Given the description of an element on the screen output the (x, y) to click on. 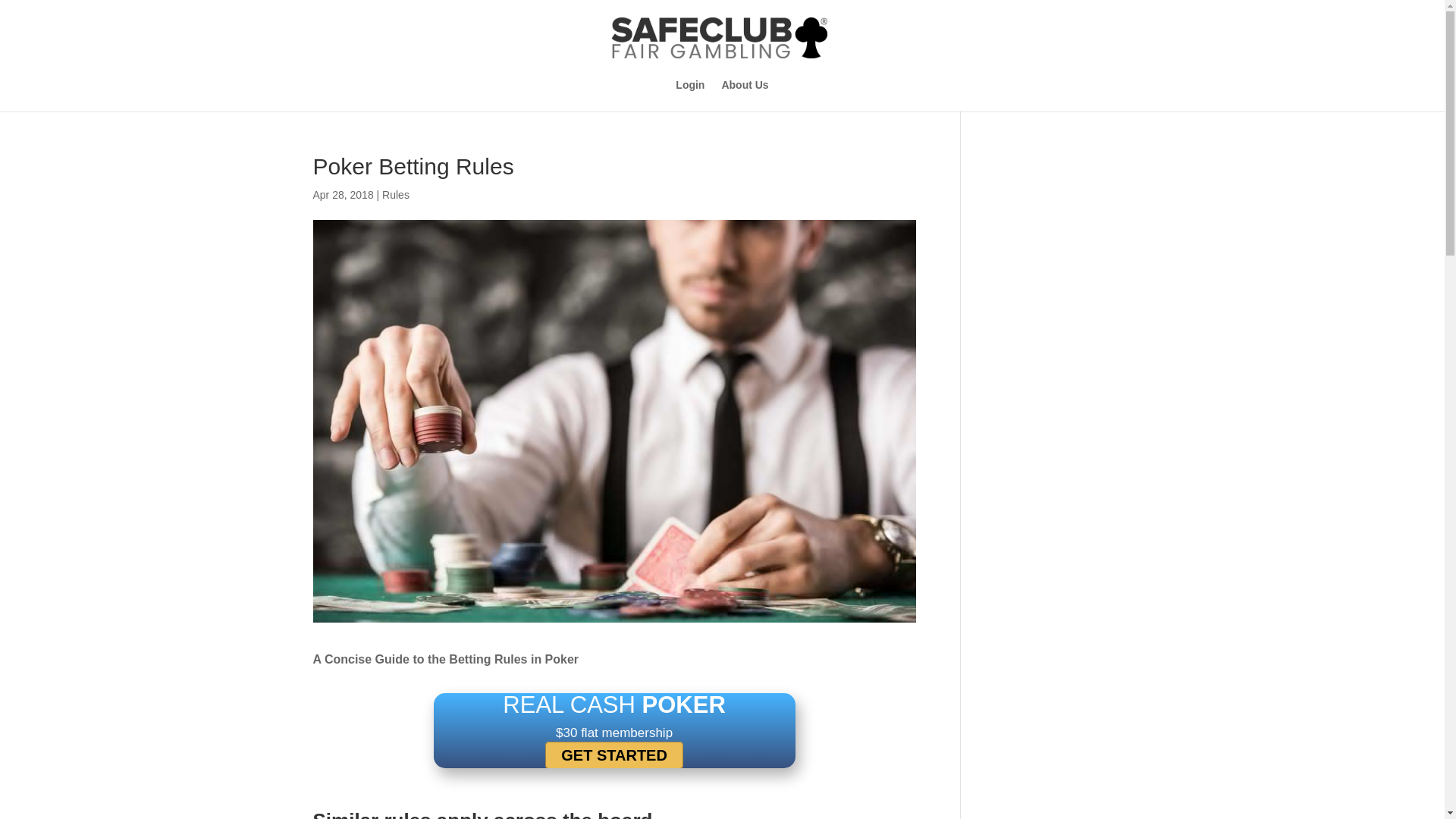
Rules (395, 194)
About Us (744, 95)
GET STARTED (613, 755)
Login (689, 95)
